Given the description of an element on the screen output the (x, y) to click on. 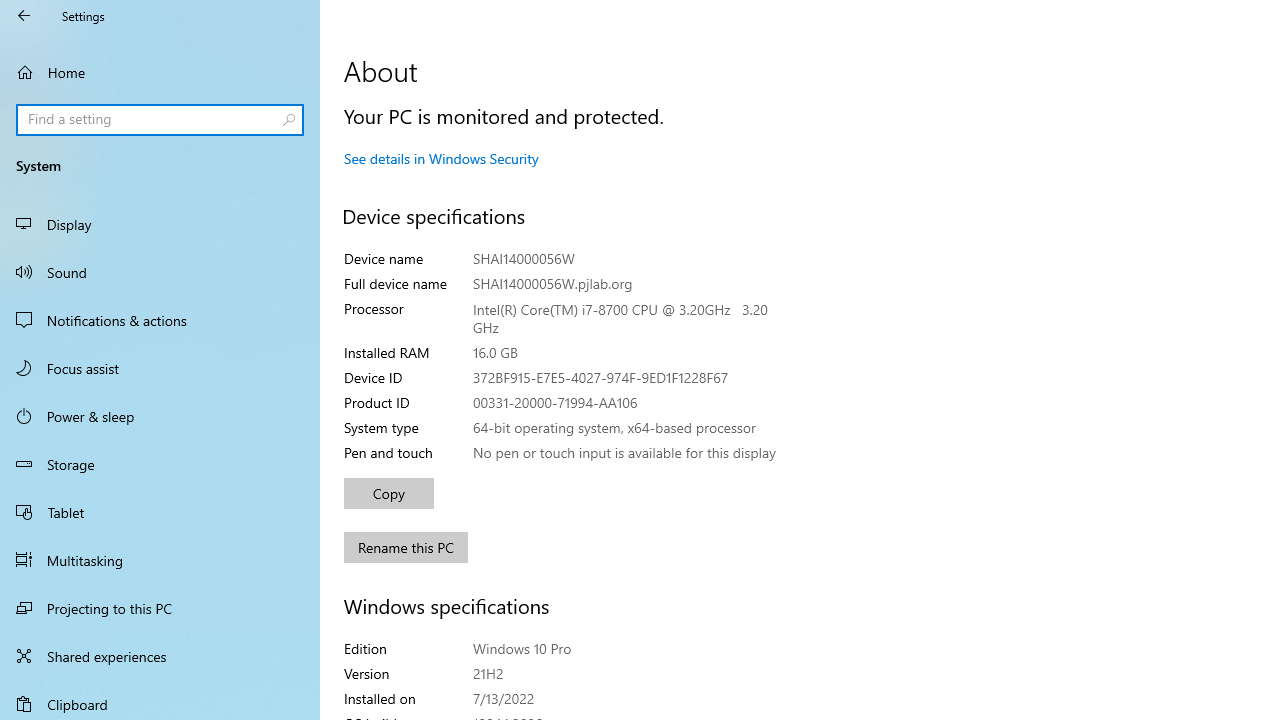
Storage (160, 463)
